Given the description of an element on the screen output the (x, y) to click on. 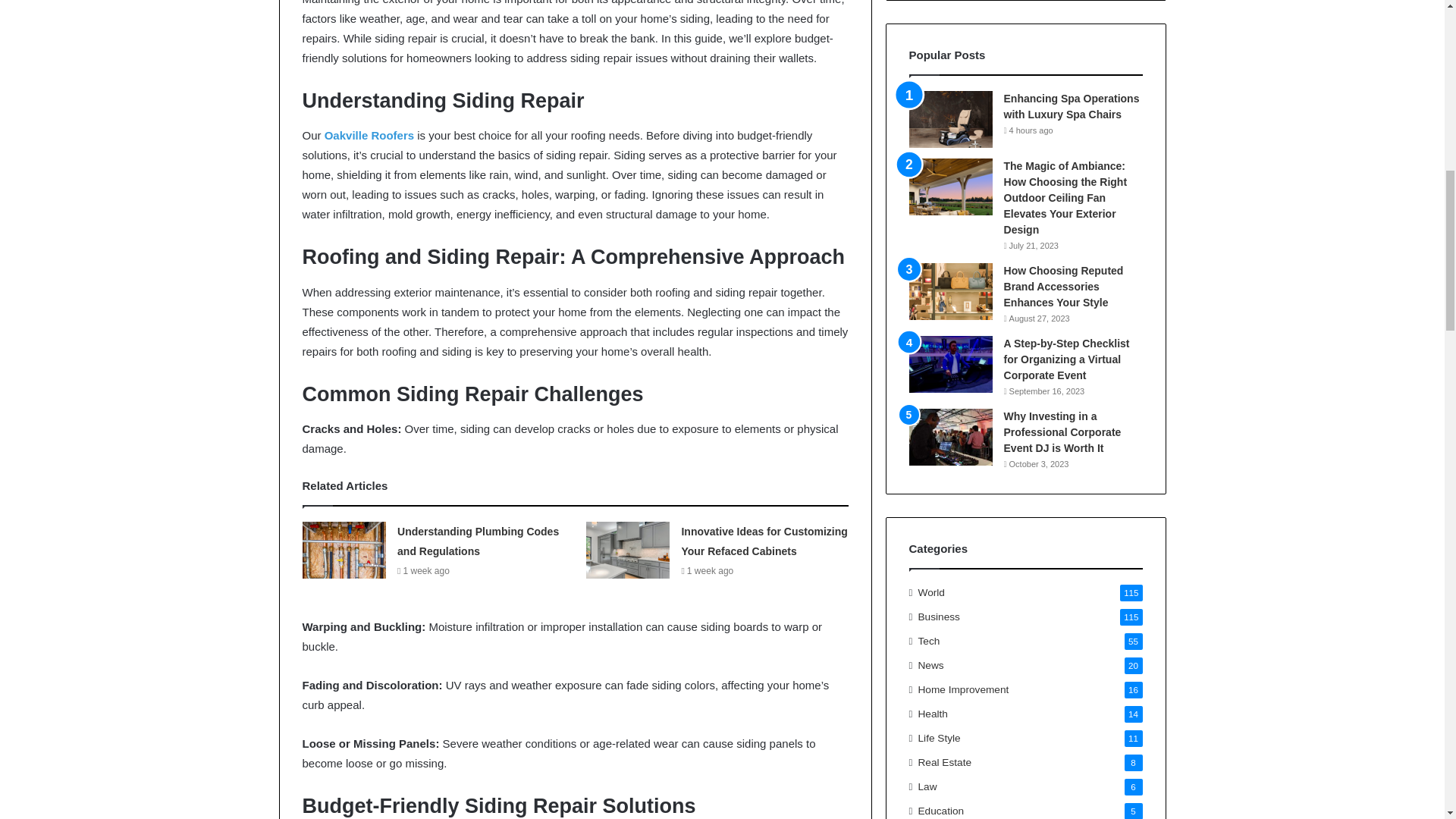
Understanding Plumbing Codes and Regulations (478, 541)
Oakville Roofers (368, 134)
Innovative Ideas for Customizing Your Refaced Cabinets (764, 541)
